Given the description of an element on the screen output the (x, y) to click on. 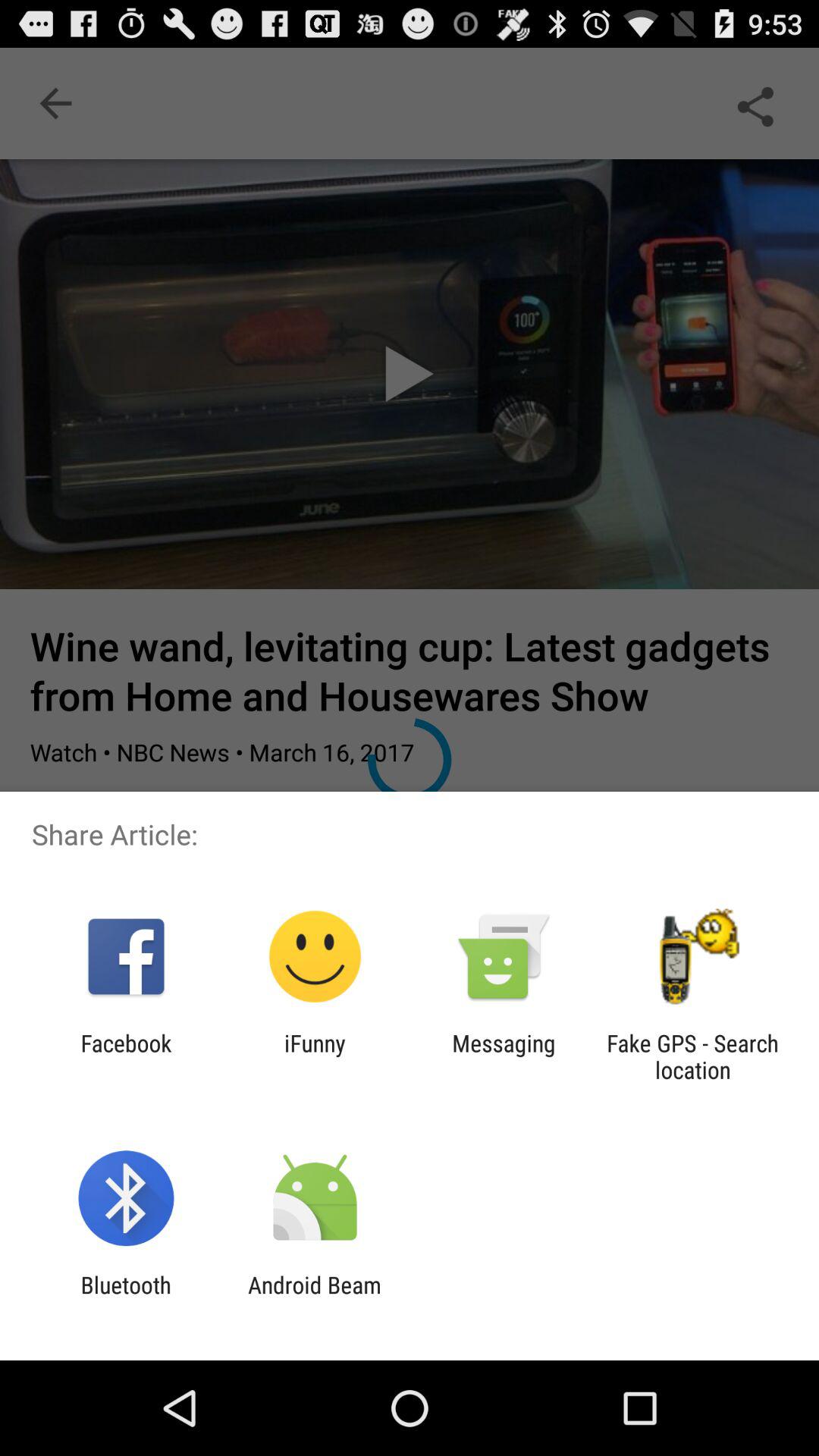
tap the app next to fake gps search icon (503, 1056)
